Given the description of an element on the screen output the (x, y) to click on. 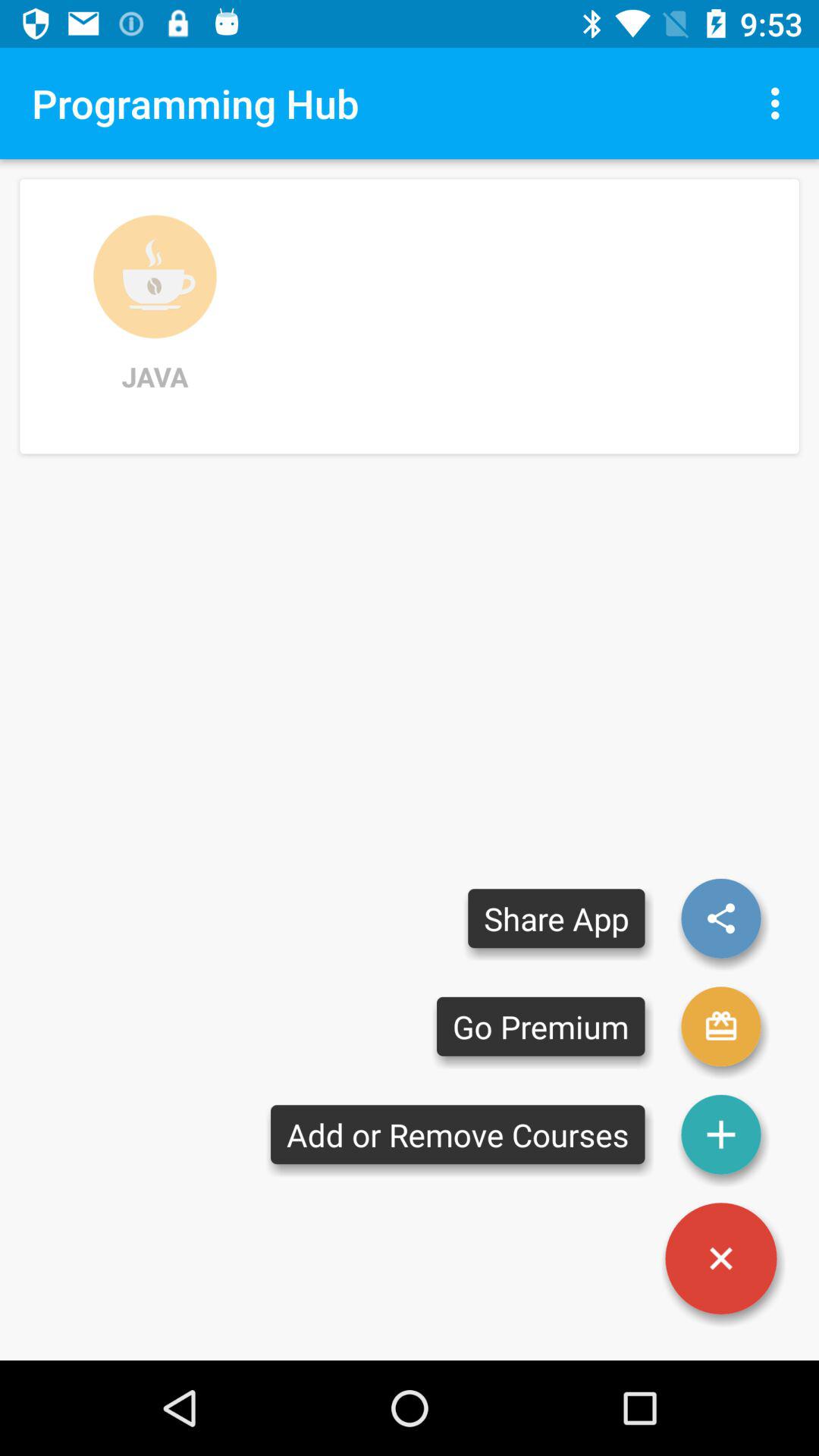
close button (721, 1258)
